Given the description of an element on the screen output the (x, y) to click on. 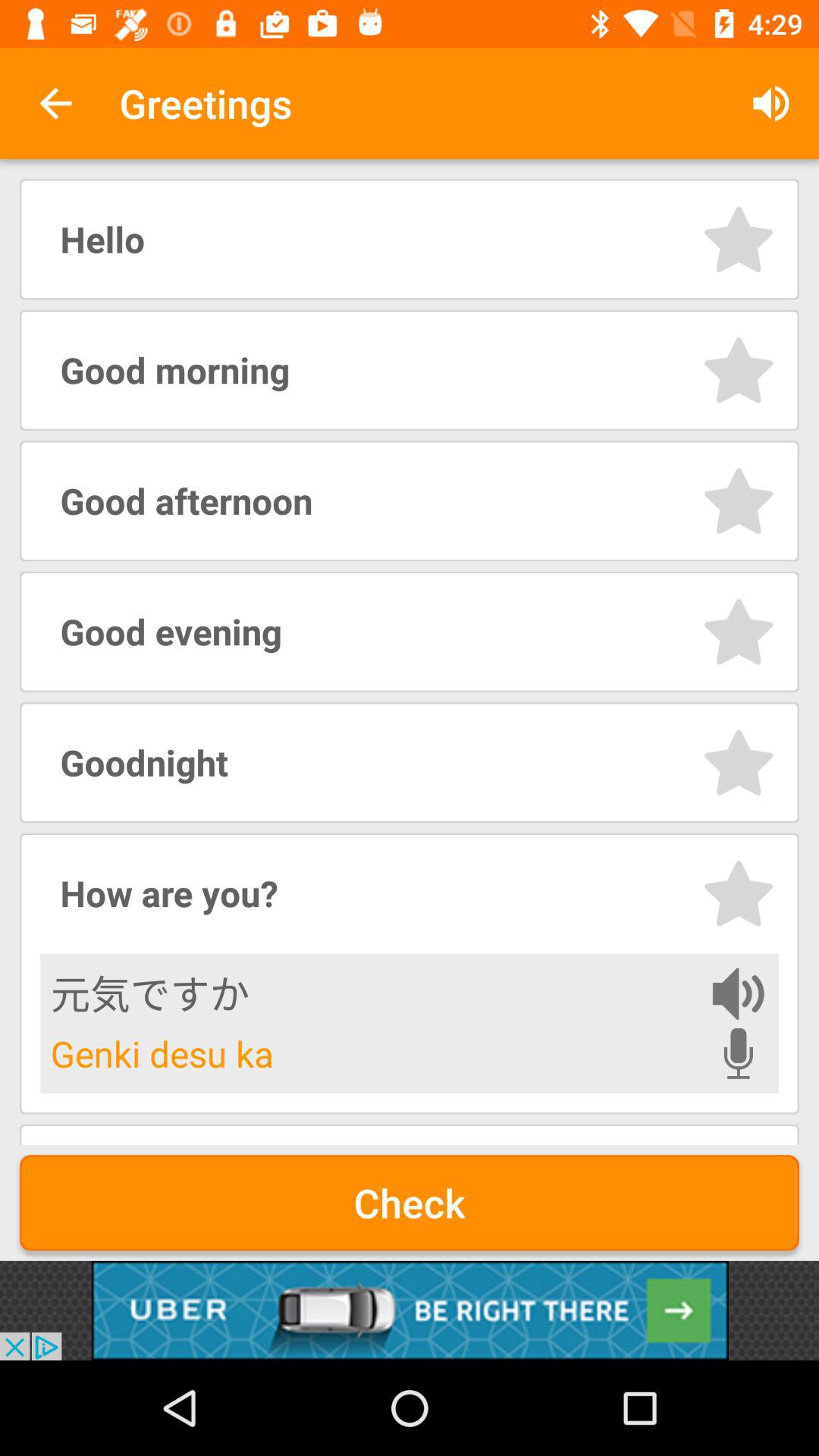
tap to listen to pronunciation (738, 1053)
